Given the description of an element on the screen output the (x, y) to click on. 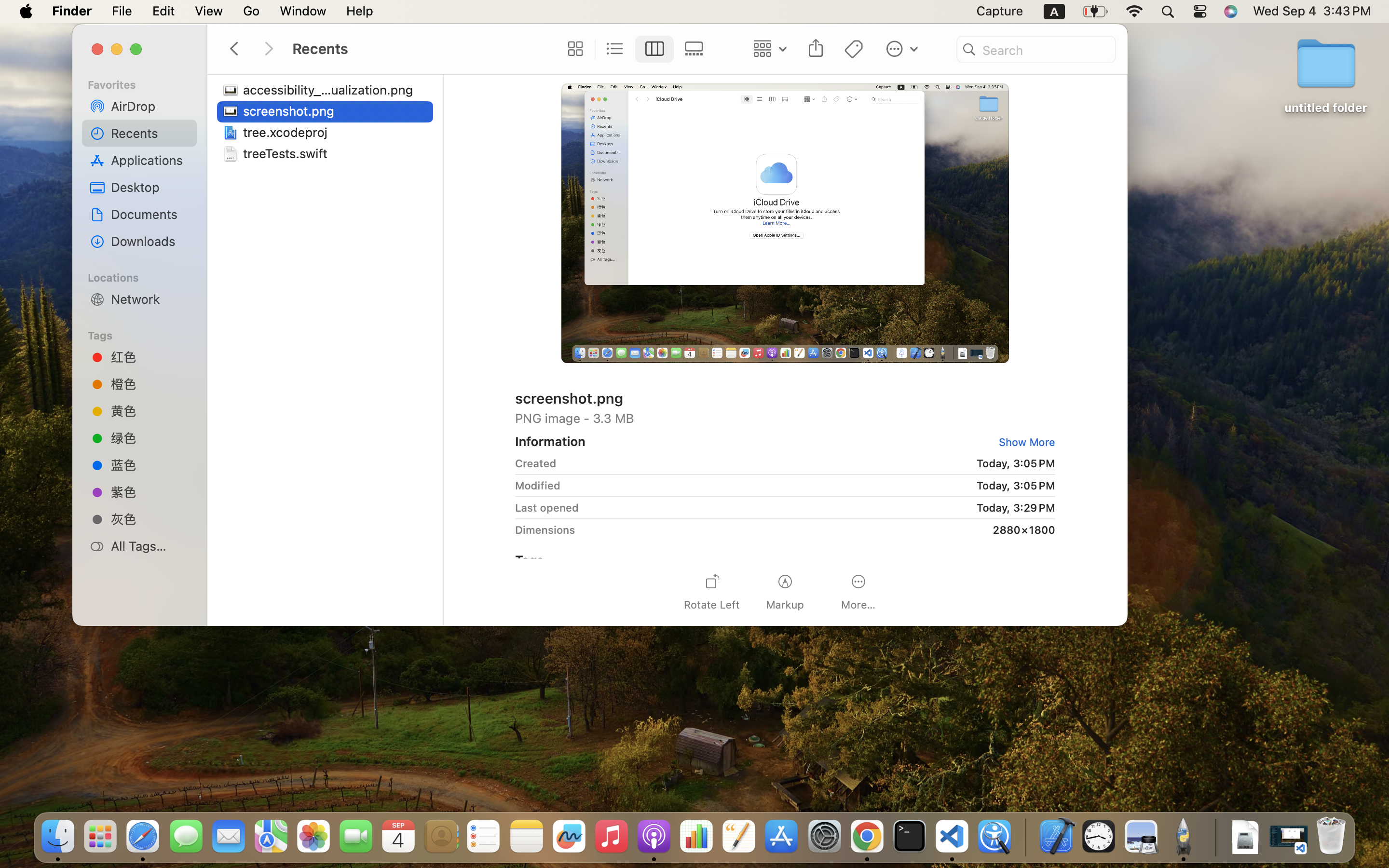
0.4285714328289032 Element type: AXDockItem (1024, 836)
0 Element type: AXRadioButton (572, 48)
<AXUIElement 0x13b16cdf0> {pid=510} Element type: AXRadioGroup (633, 48)
Recents Element type: AXStaticText (149, 132)
蓝色 Element type: AXStaticText (149, 464)
